Given the description of an element on the screen output the (x, y) to click on. 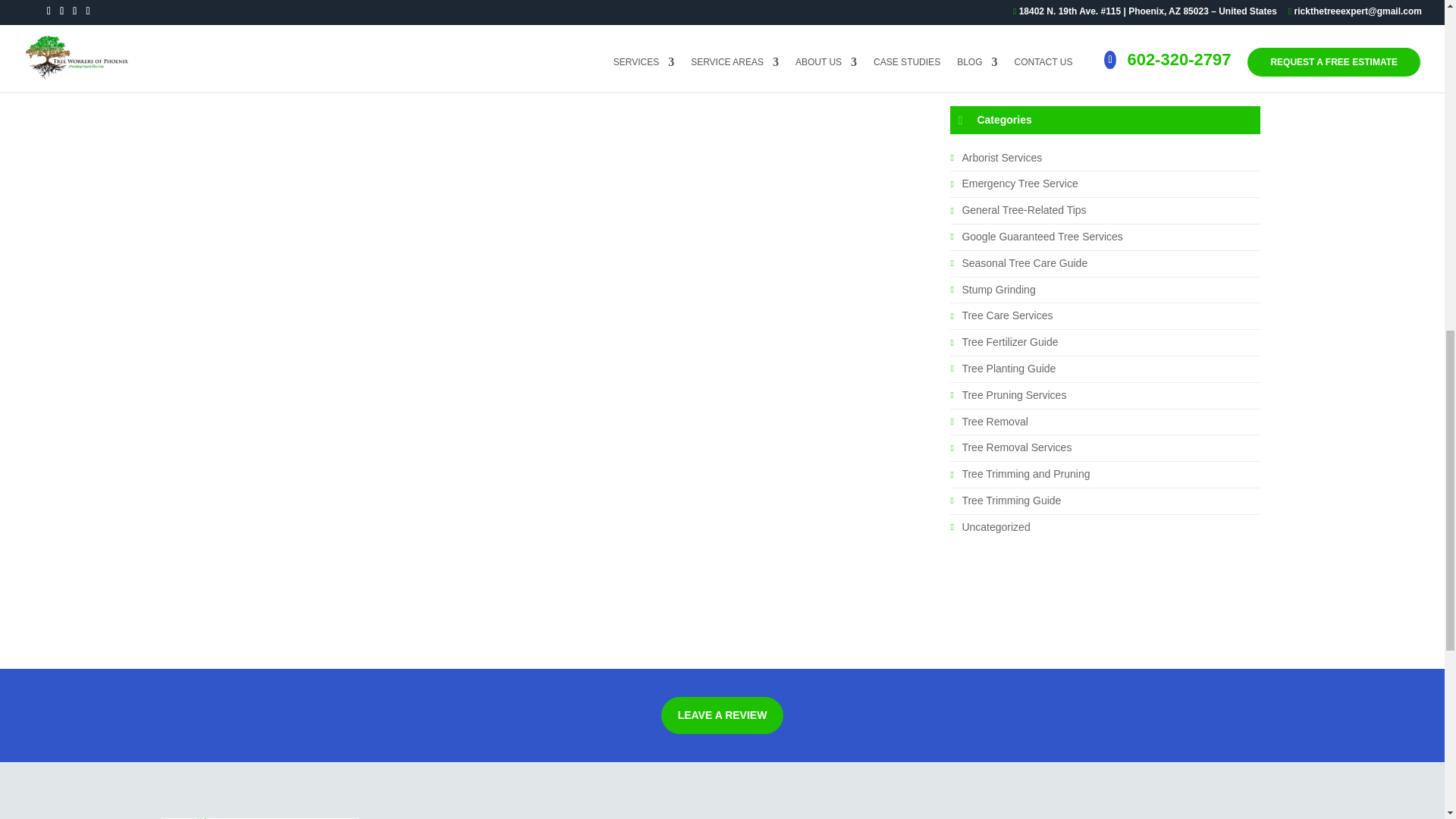
General Tree-Related Tips (1023, 209)
Emergency Tree Service (1018, 183)
How To Treat a Sick Tree in Phoenix, AZ: 6 Tips (1072, 19)
Arborist Services (1001, 157)
